Given the description of an element on the screen output the (x, y) to click on. 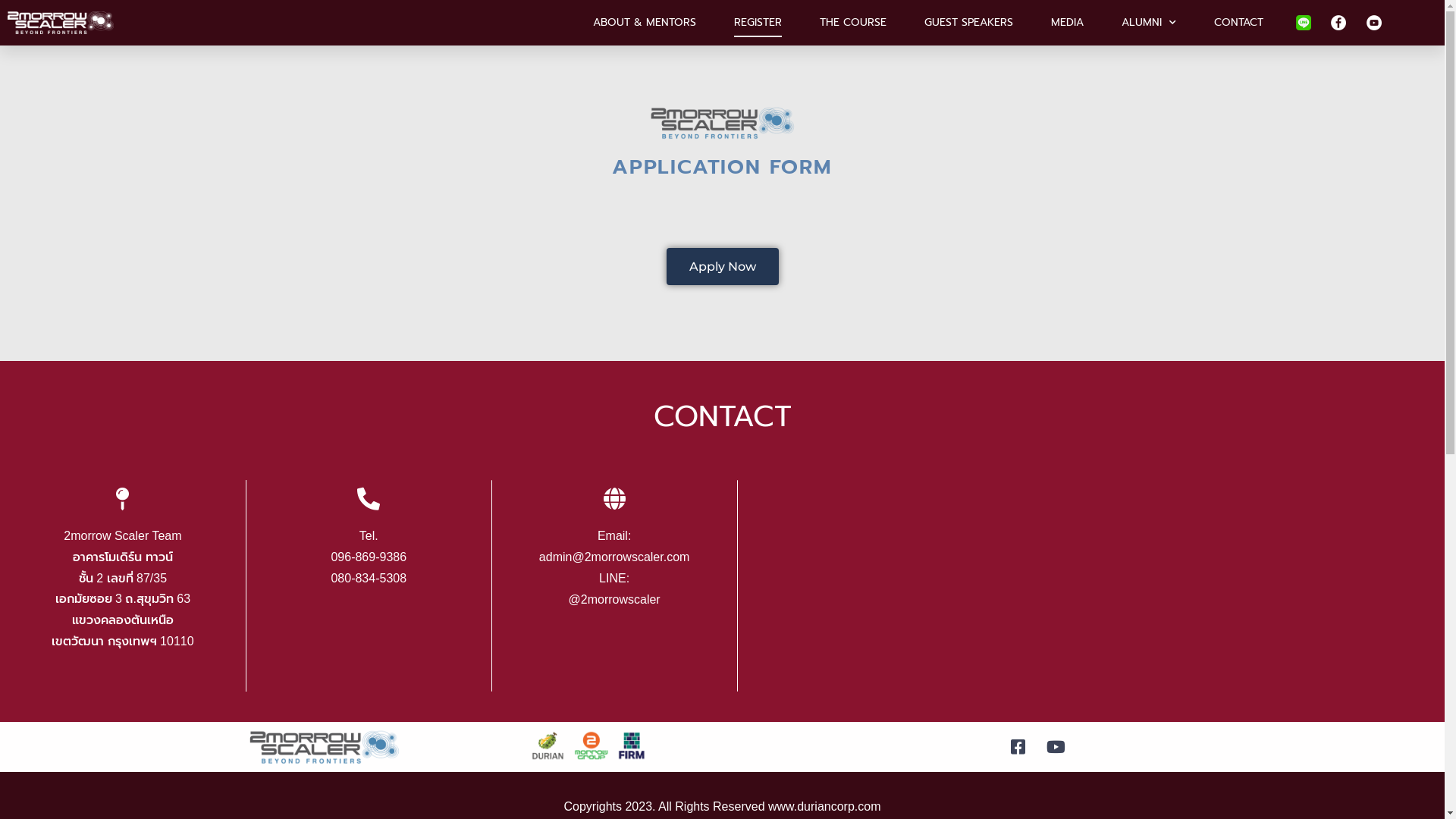
facebook Element type: hover (1338, 22)
MEDIA Element type: text (1067, 22)
2morrow_sponsor-2 Element type: hover (588, 745)
THE COURSE Element type: text (852, 22)
CONTACT Element type: text (1238, 22)
REGISTER Element type: text (757, 22)
ABOUT & MENTORS Element type: text (644, 22)
www.duriancorp.com Element type: text (824, 806)
GUEST SPEAKERS Element type: text (968, 22)
line_small Element type: hover (1303, 22)
Youtube Element type: hover (1373, 22)
Modern Town Element type: hover (1091, 585)
2morrow_sponsor Element type: hover (323, 746)
Logo Main Element type: hover (60, 22)
admin@2morrowscaler.com Element type: text (614, 556)
2morrow_sponsor Element type: hover (721, 122)
@2morrowscaler Element type: text (614, 599)
ALUMNI Element type: text (1148, 22)
Apply Now Element type: text (721, 266)
